Given the description of an element on the screen output the (x, y) to click on. 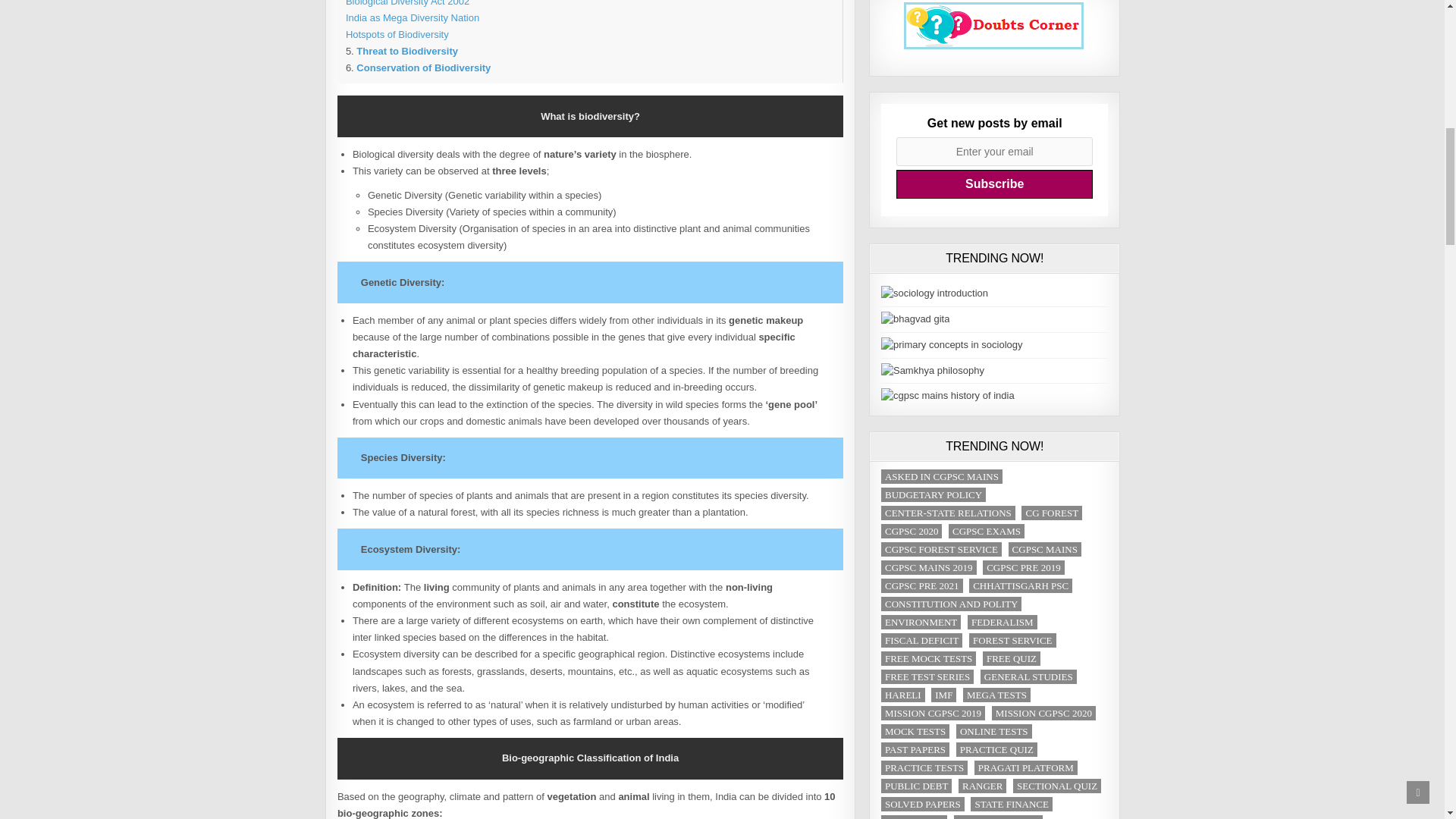
Subscribe (994, 184)
